Given the description of an element on the screen output the (x, y) to click on. 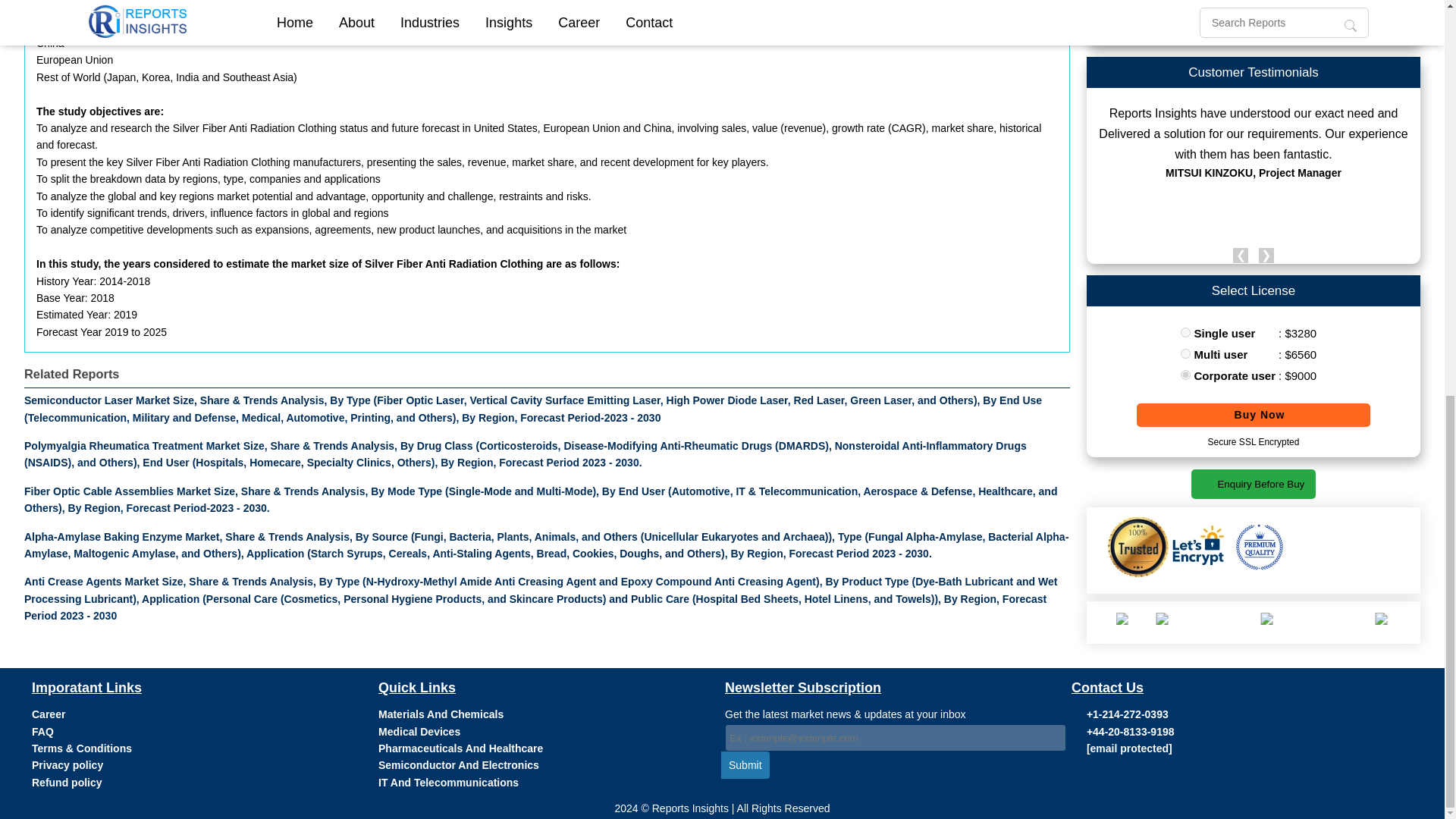
on (1185, 375)
on (1185, 353)
on (1185, 332)
